Given the description of an element on the screen output the (x, y) to click on. 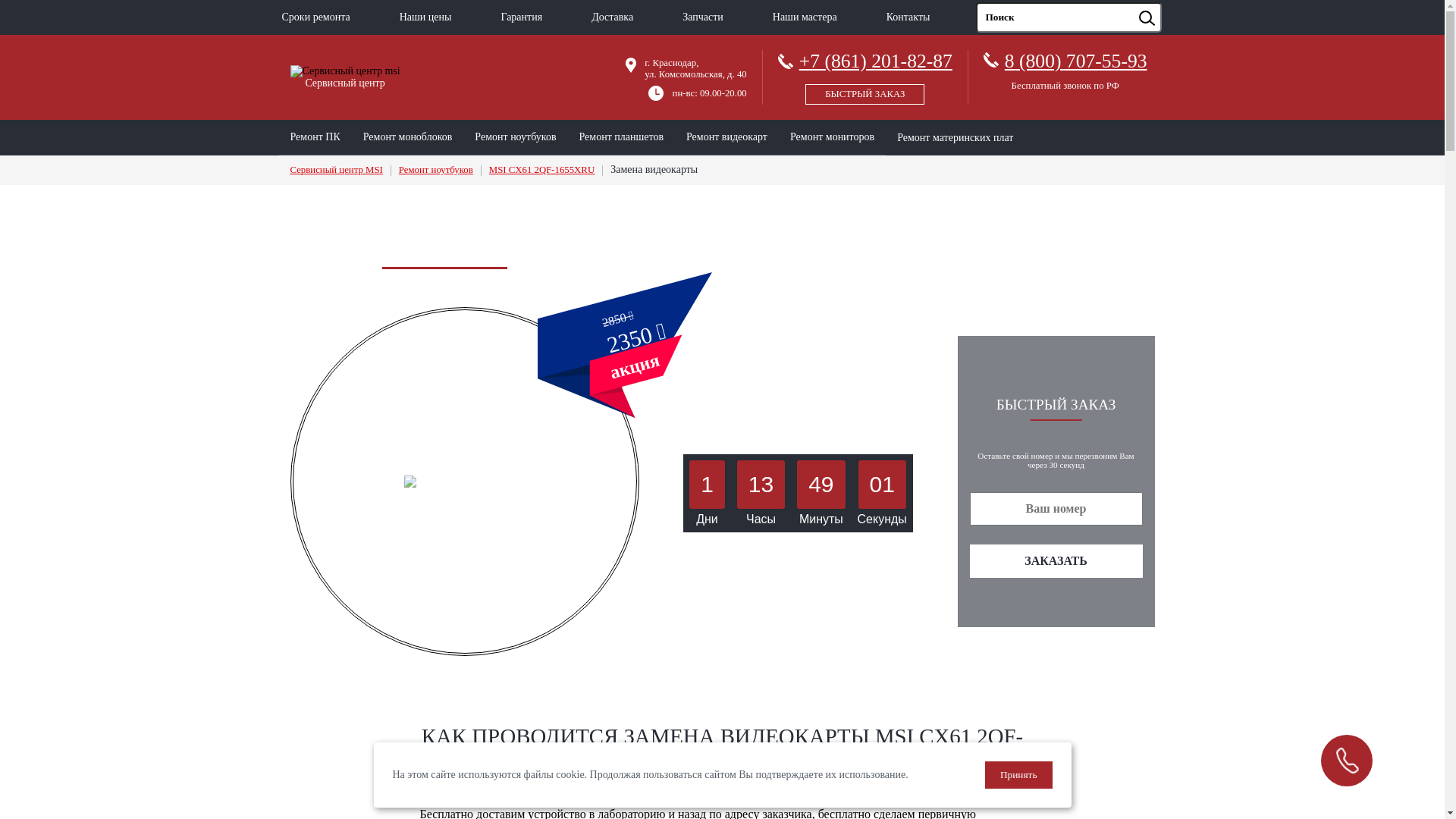
8 (800) 707-55-93 Element type: text (1075, 61)
MSI CX61 2QF-1655XRU Element type: text (541, 170)
+7 (861) 201-82-87 Element type: text (865, 74)
sisea.search Element type: text (1165, 2)
